Given the description of an element on the screen output the (x, y) to click on. 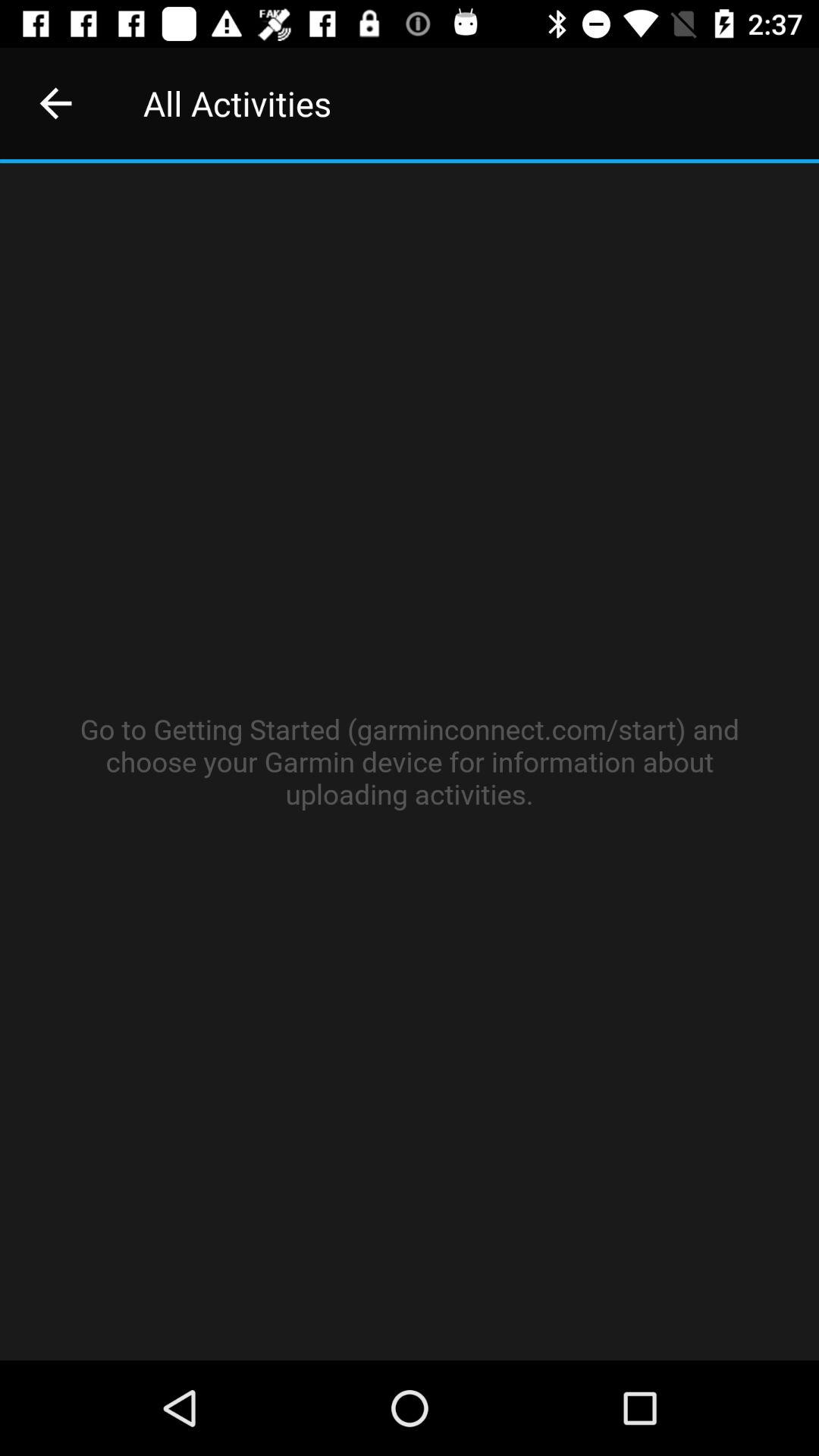
jump to go to getting item (409, 761)
